Given the description of an element on the screen output the (x, y) to click on. 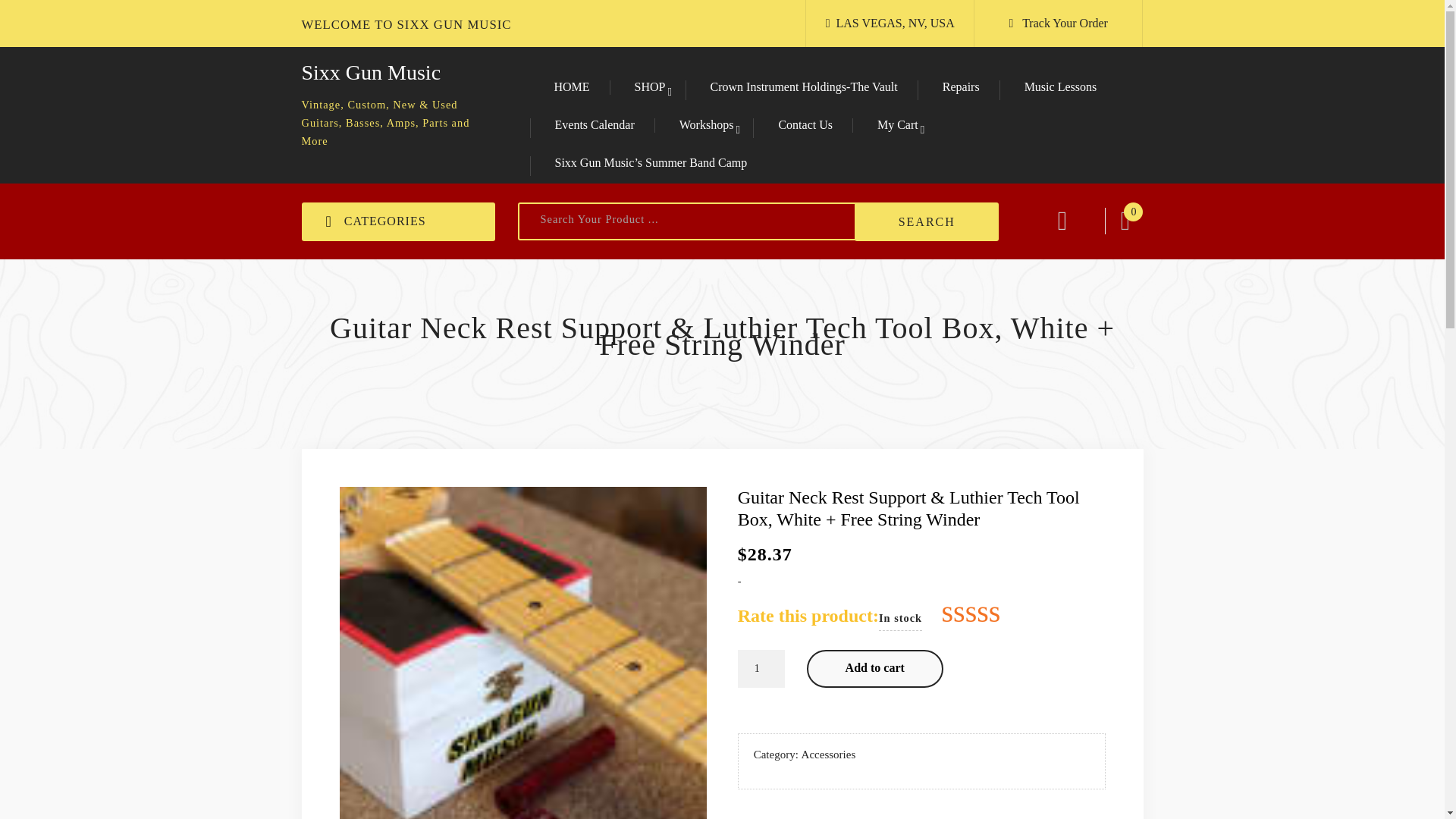
Workshops (706, 124)
My Account (1125, 207)
Repairs (960, 89)
My Cart (897, 124)
Sixx Gun Music (371, 72)
1 (761, 668)
Music Lessons (1061, 89)
Track Your Order (1065, 22)
SEARCH (926, 221)
Contact Us (804, 127)
Search for: (696, 221)
HOME (571, 89)
Crown Instrument Holdings-The Vault (804, 89)
Events Calendar (594, 127)
SHOP (649, 87)
